Given the description of an element on the screen output the (x, y) to click on. 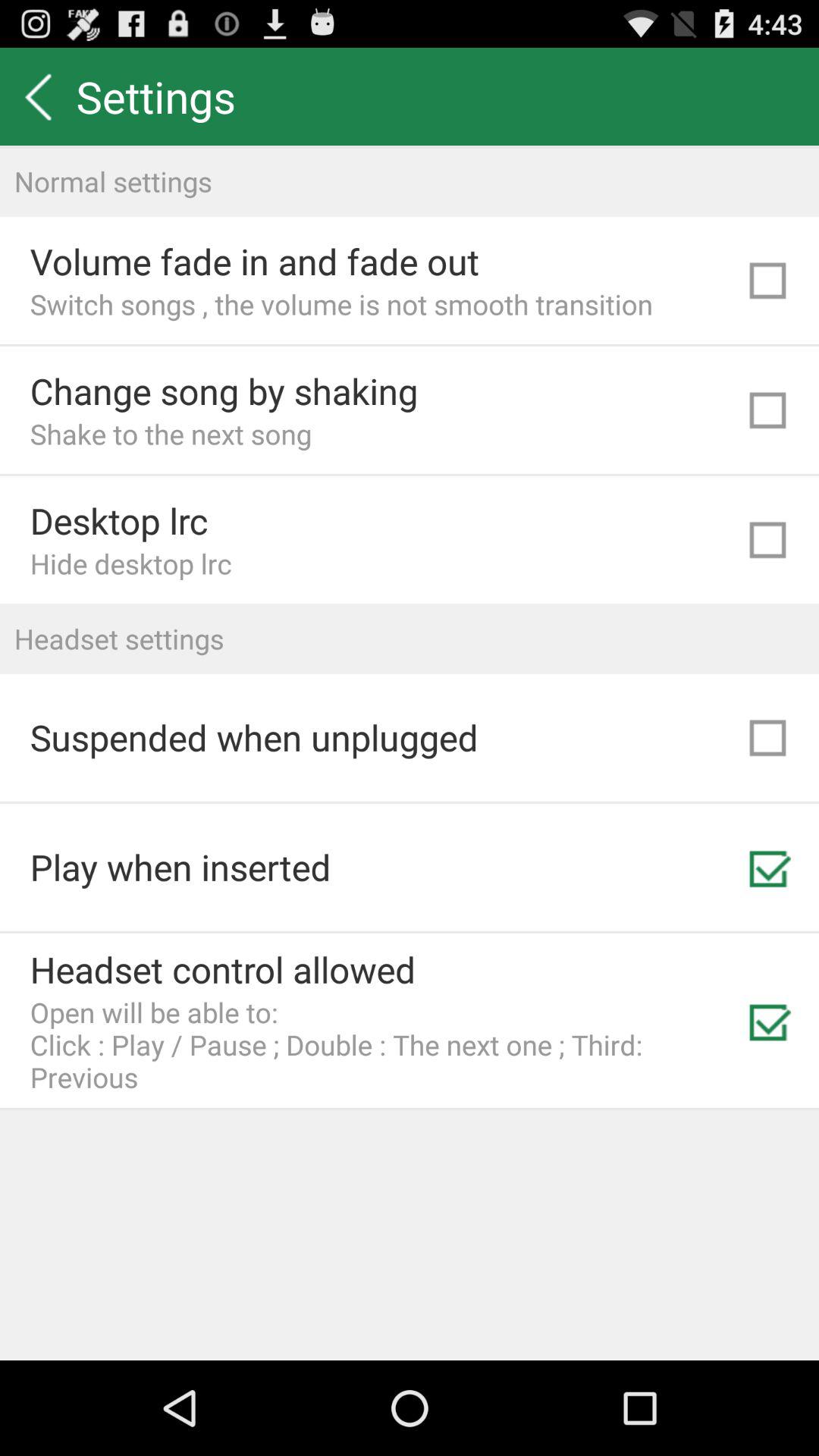
turn off item at the bottom (383, 1044)
